Given the description of an element on the screen output the (x, y) to click on. 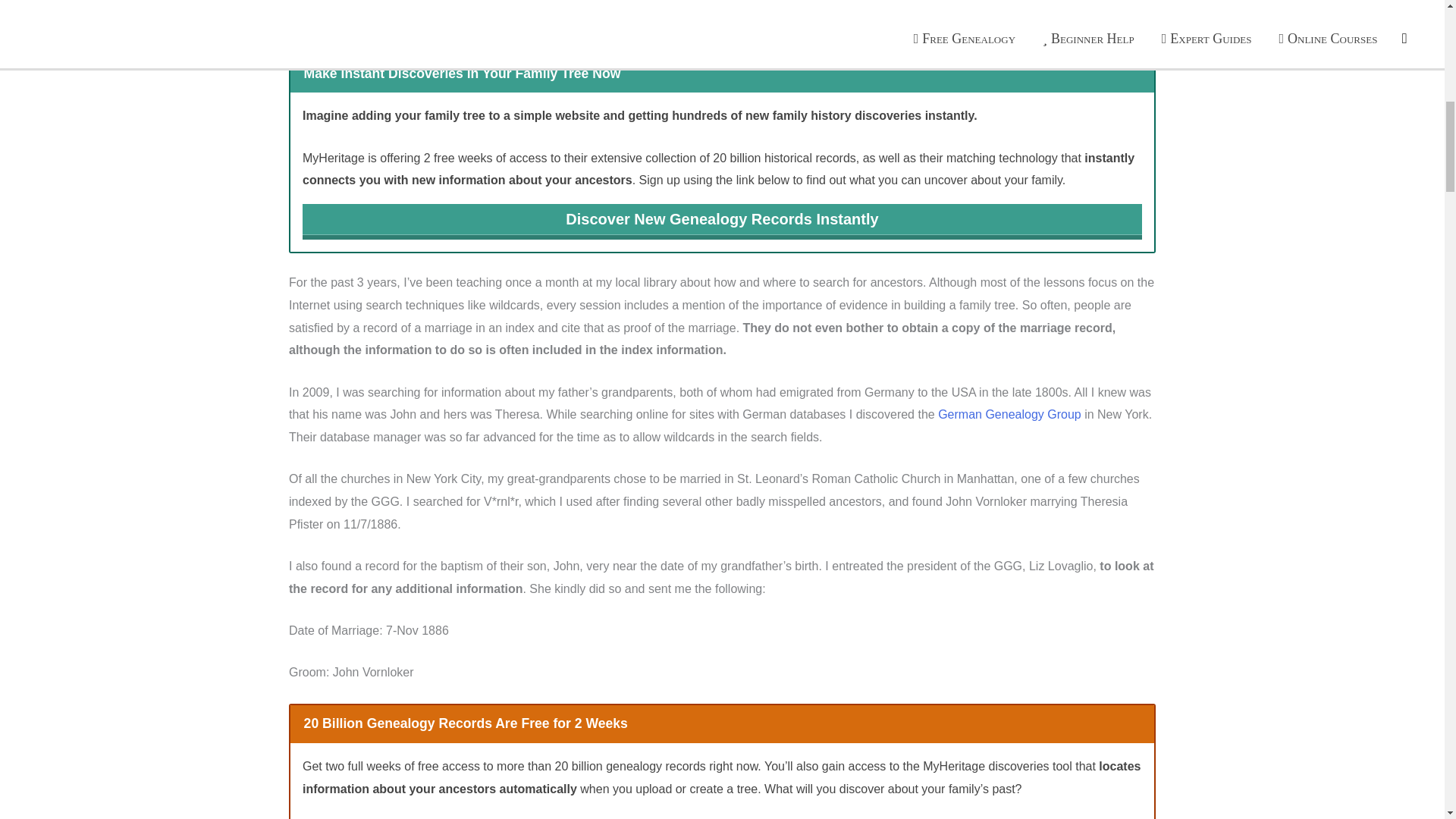
Discover New Genealogy Records Instantly (721, 221)
for your review here (760, 21)
German Genealogy Group (1009, 413)
